Given the description of an element on the screen output the (x, y) to click on. 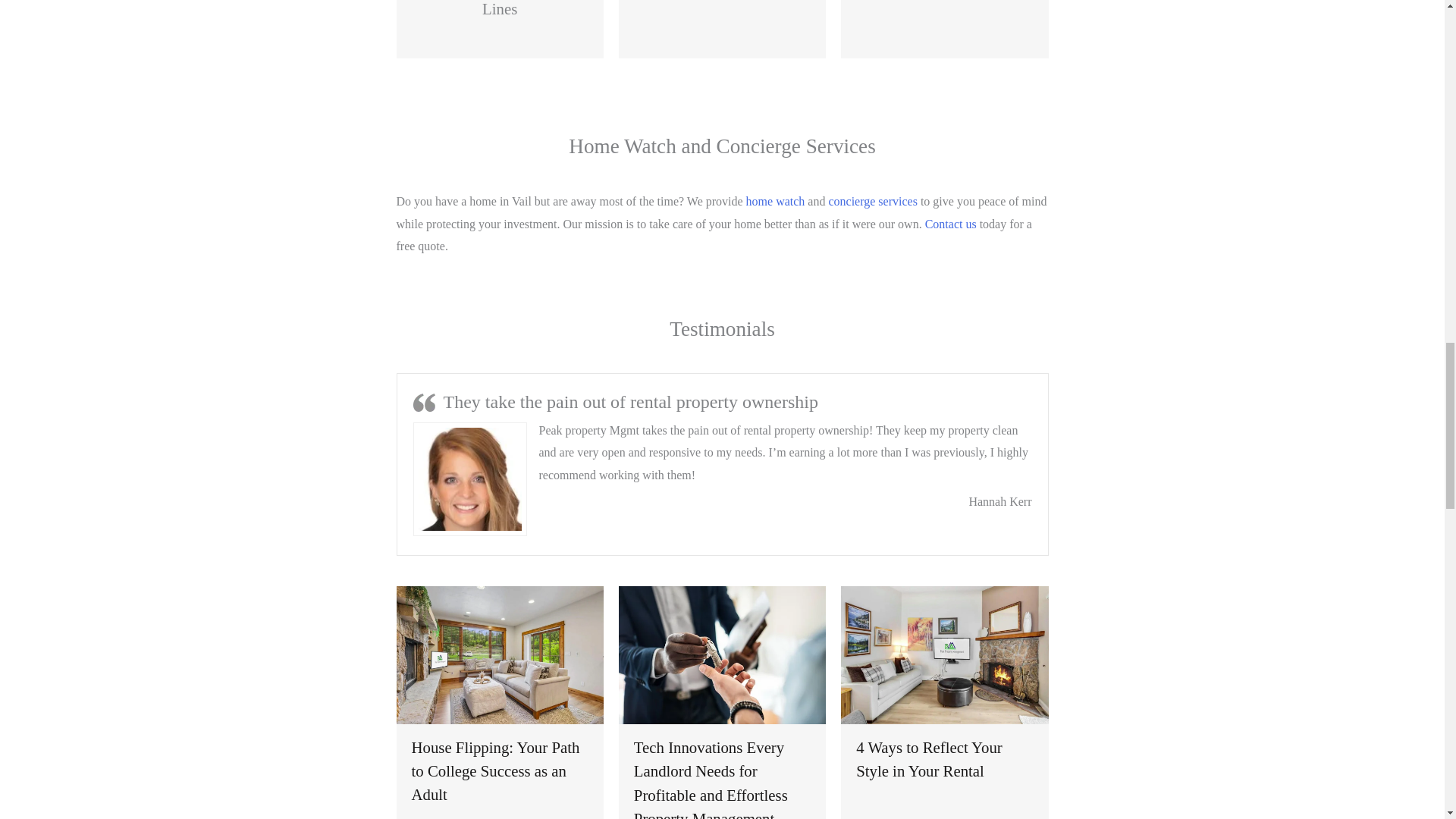
Perfectly Located Vail Home Hot Tub On Bus Lines (499, 8)
concierge services (872, 201)
Contact us (950, 223)
home watch (775, 201)
